Given the description of an element on the screen output the (x, y) to click on. 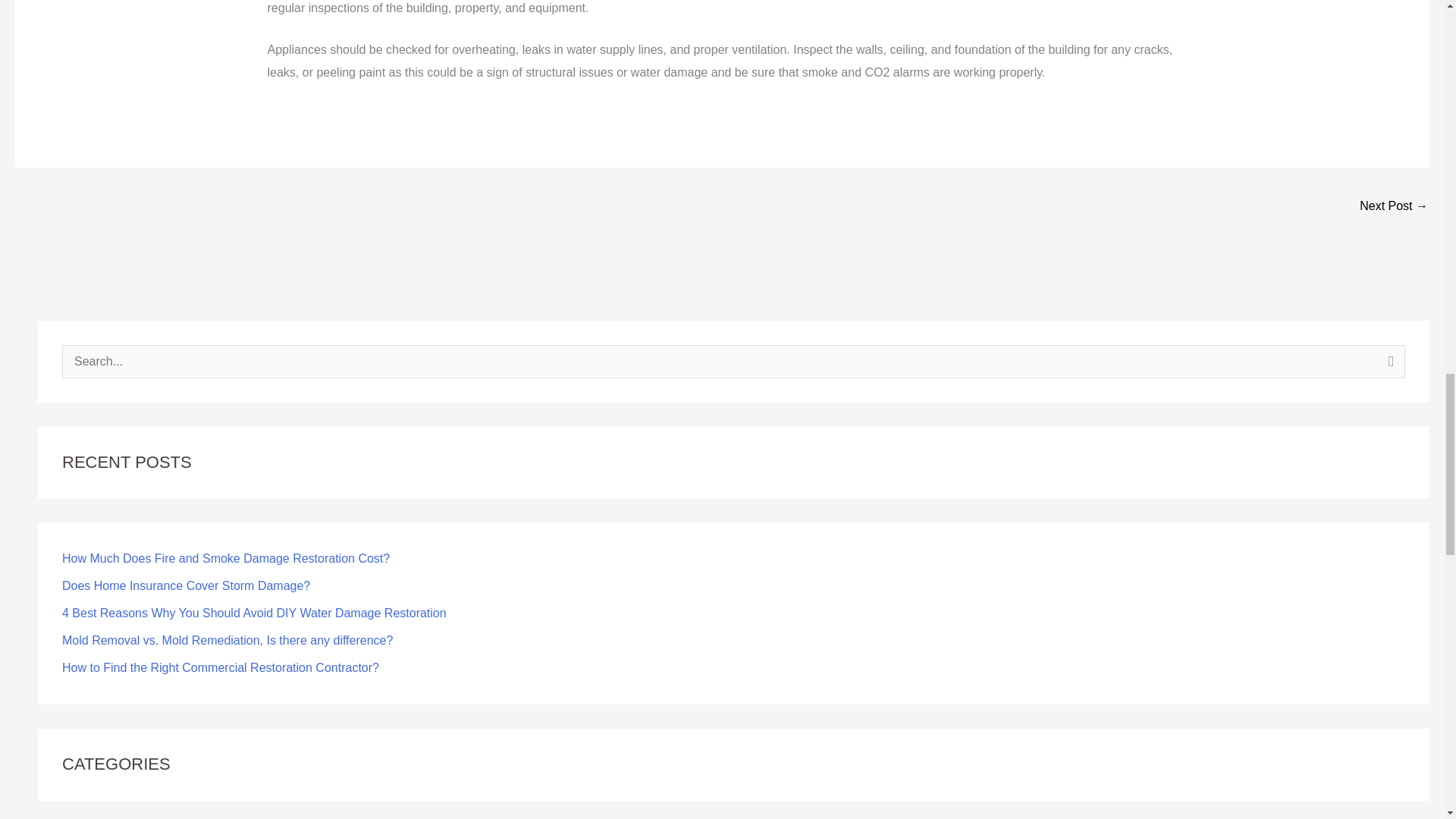
Does Home Insurance Cover Storm Damage? (186, 585)
Mold Removal vs. Mold Remediation, Is there any difference? (227, 640)
How Much Does Fire and Smoke Damage Restoration Cost? (226, 558)
What Are the Most Harmful Types of Mold Found in Homes? (1393, 207)
